Given the description of an element on the screen output the (x, y) to click on. 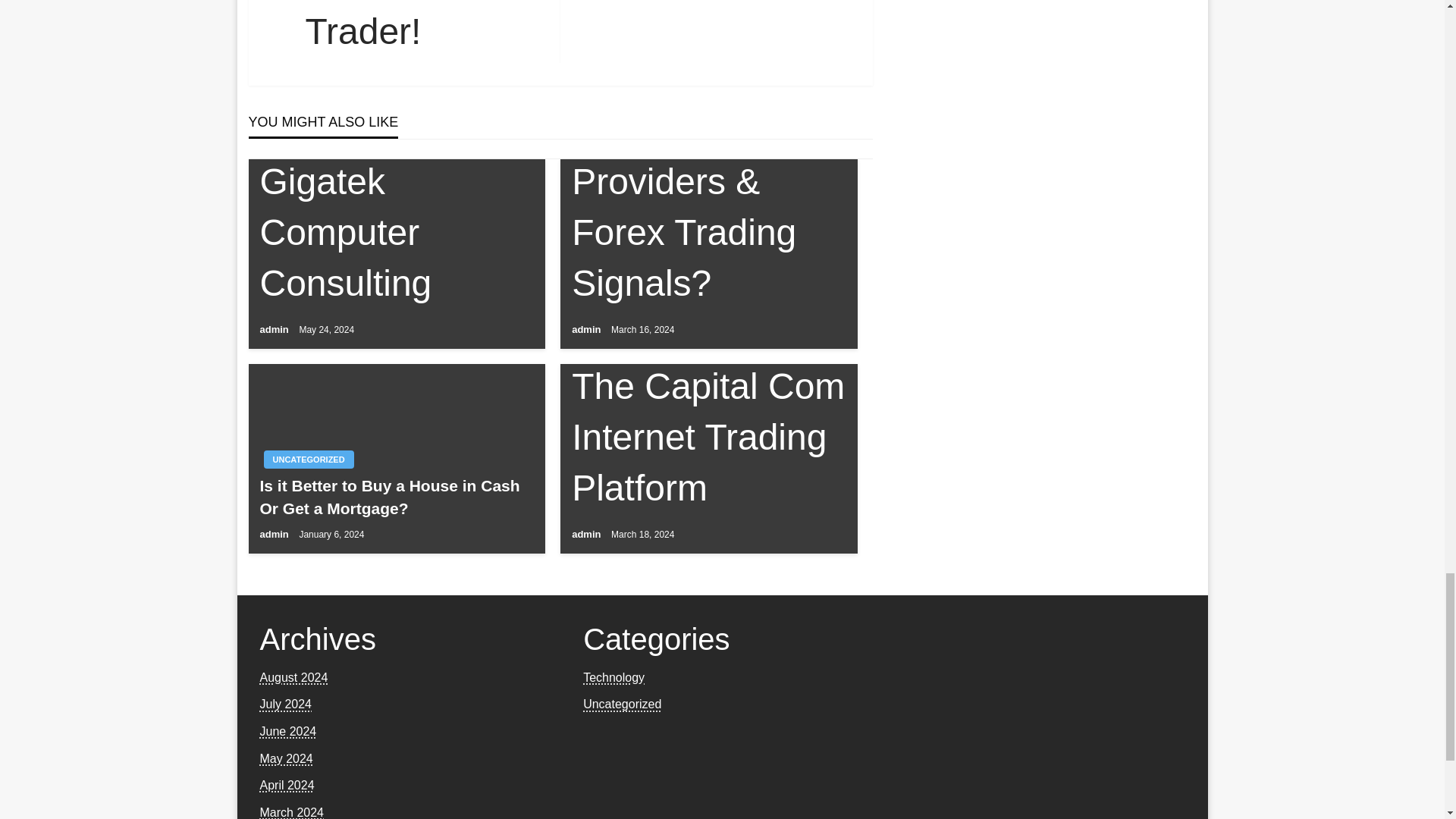
admin (588, 533)
The Capital Com Internet Trading Platform (708, 437)
admin (275, 533)
Restore Providers Gigatek Computer Consulting (396, 181)
admin (588, 328)
UNCATEGORIZED (308, 459)
admin (275, 328)
Is it Better to Buy a House in Cash Or Get a Mortgage? (396, 497)
